Given the description of an element on the screen output the (x, y) to click on. 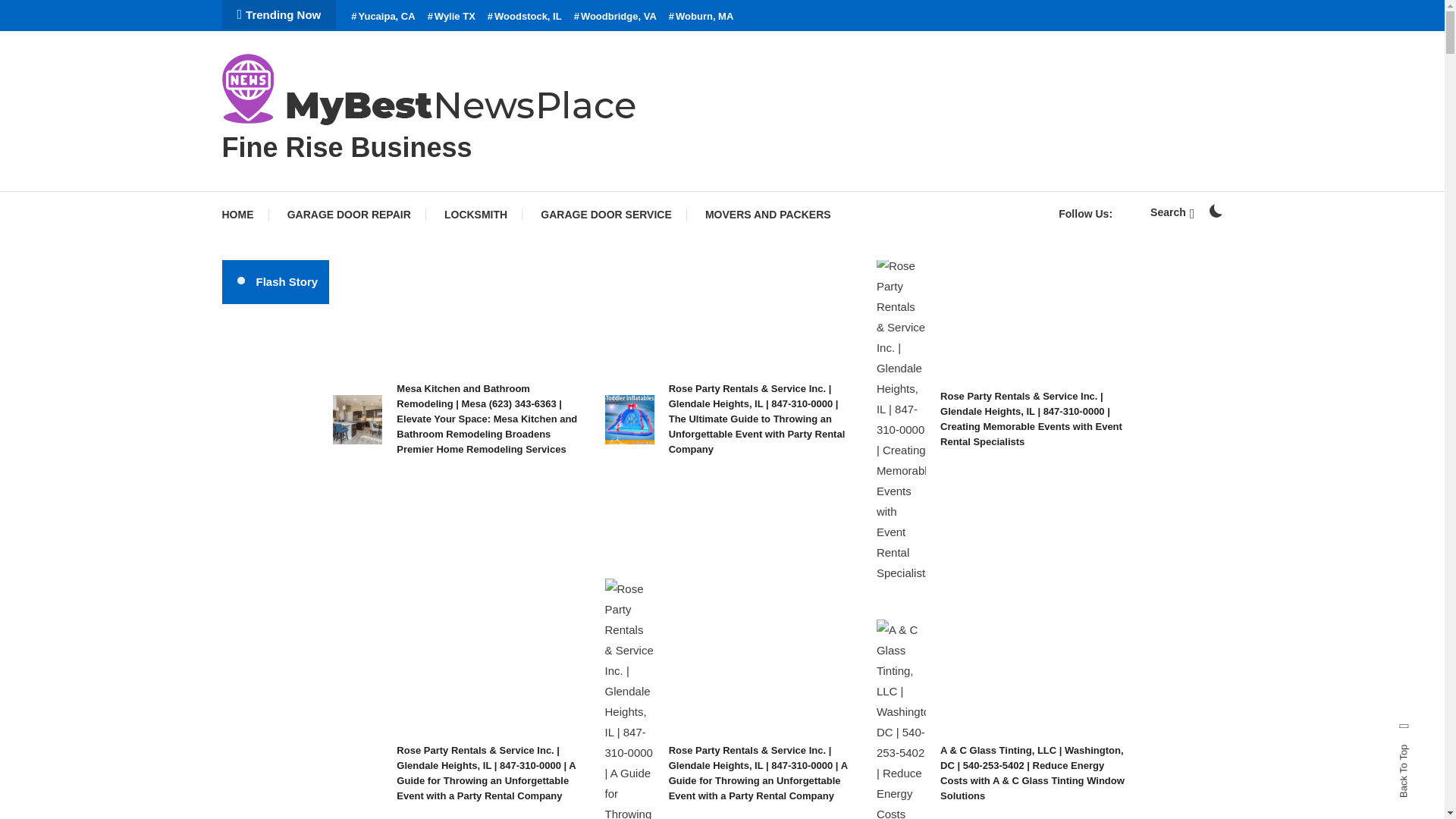
Yucaipa, CA (382, 16)
Woburn, MA (700, 16)
Wylie TX (452, 16)
Woodstock, IL (524, 16)
Woodbridge, VA (614, 16)
GARAGE DOOR SERVICE (605, 214)
MOVERS AND PACKERS (767, 214)
LOCKSMITH (475, 214)
Search (1171, 212)
Fine Rise Business (346, 146)
